Given the description of an element on the screen output the (x, y) to click on. 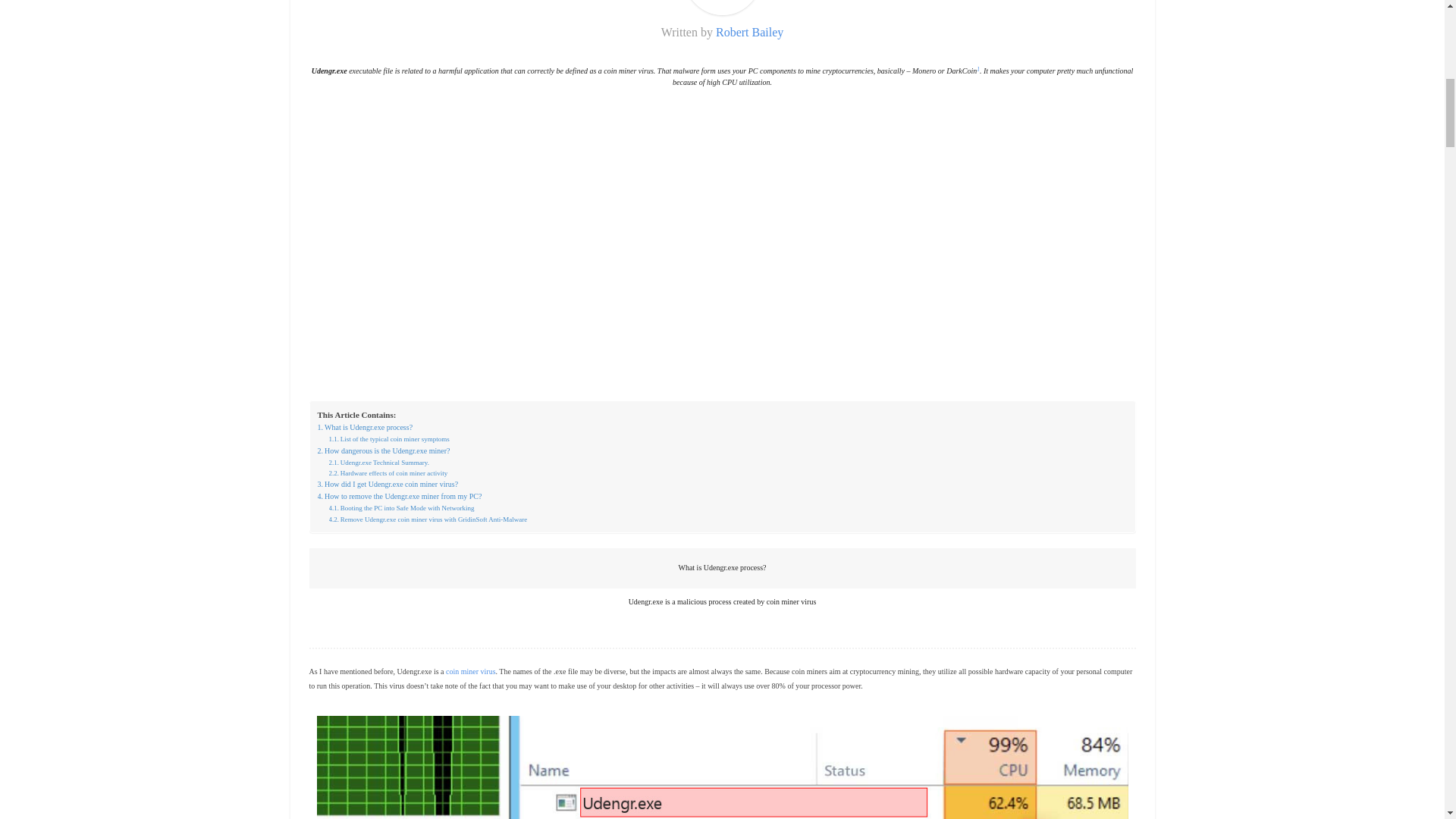
Udengr.exe Technical Summary. (379, 462)
What is Udengr.exe process? (364, 427)
How did I get Udengr.exe coin miner virus? (387, 484)
Hardware effects of coin miner activity (388, 472)
How did I get Udengr.exe coin miner virus? (387, 484)
How to remove the Udengr.exe miner from my PC? (399, 496)
Udengr.exe Technical Summary. (379, 462)
Booting the PC into Safe Mode with Networking (401, 507)
